Given the description of an element on the screen output the (x, y) to click on. 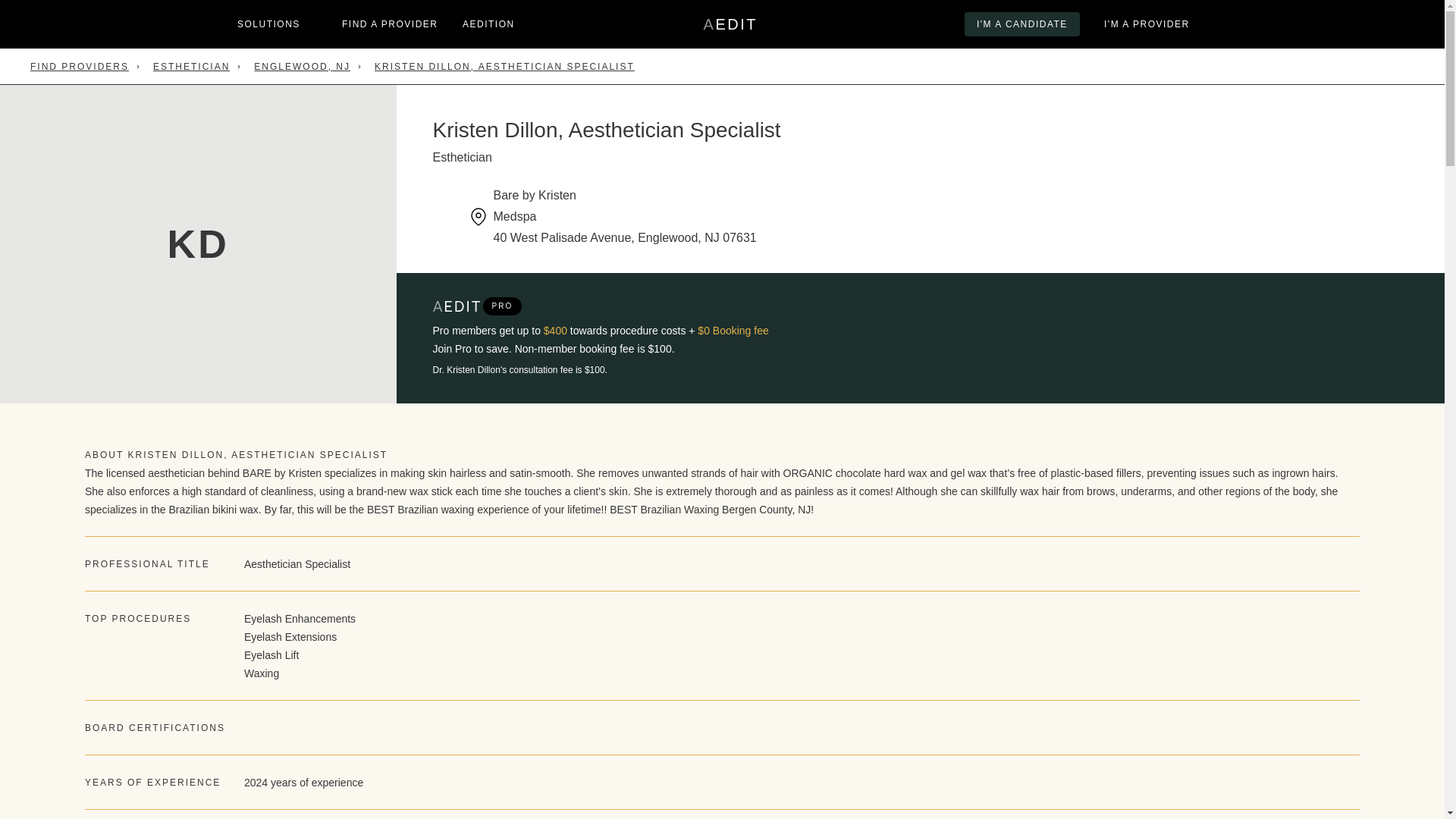
FIND A PROVIDER (390, 24)
ESTHETICIAN (191, 66)
FIND PROVIDERS (79, 66)
ENGLEWOOD, NJ (301, 66)
I'M A CANDIDATE (1021, 24)
AEDITION (730, 24)
